Given the description of an element on the screen output the (x, y) to click on. 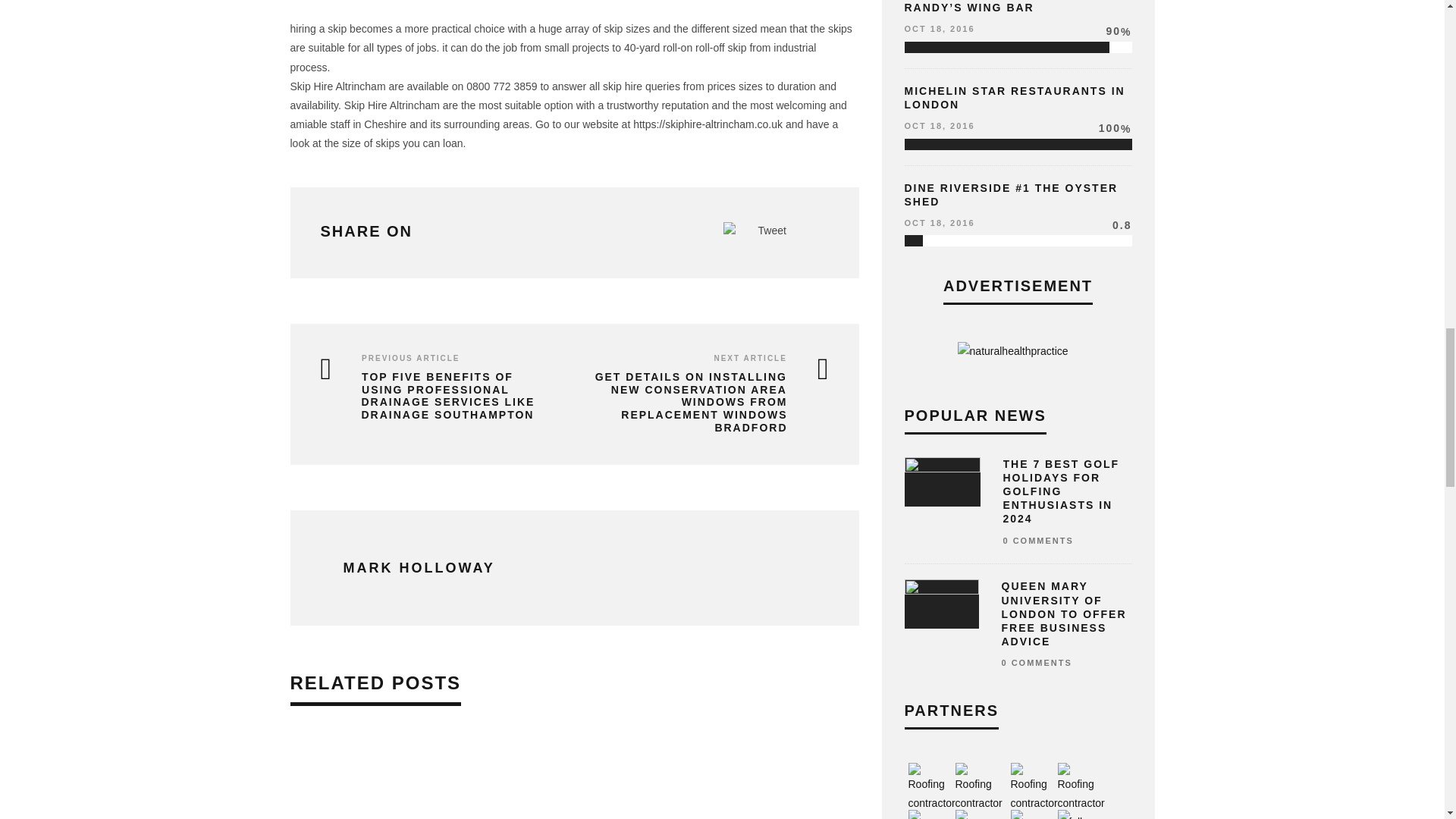
PREVIOUS ARTICLE (410, 357)
Tweet (772, 230)
NEXT ARTICLE (749, 357)
